Given the description of an element on the screen output the (x, y) to click on. 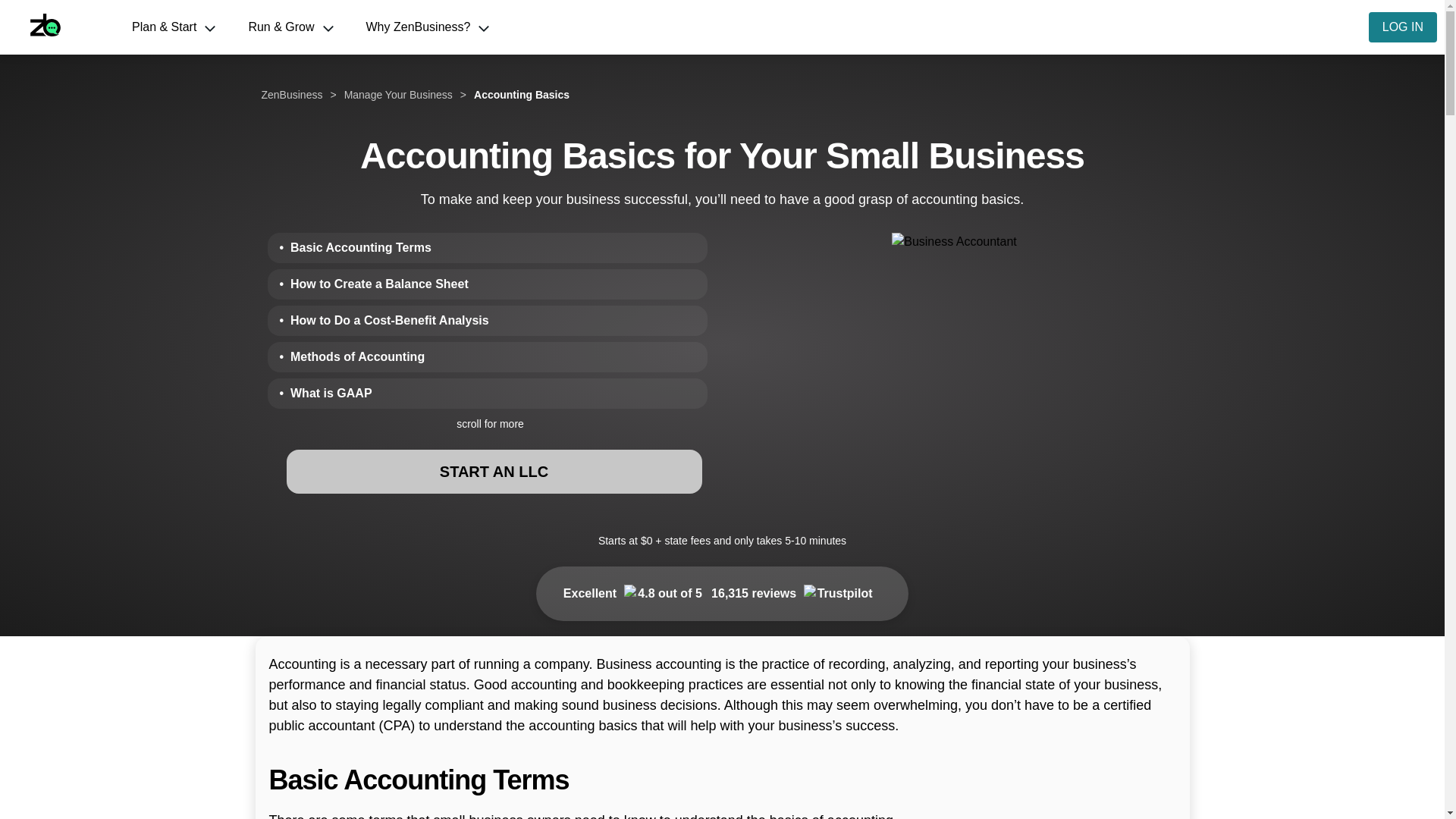
ZenBusiness Inc. (57, 27)
scroll for more (489, 426)
